Given the description of an element on the screen output the (x, y) to click on. 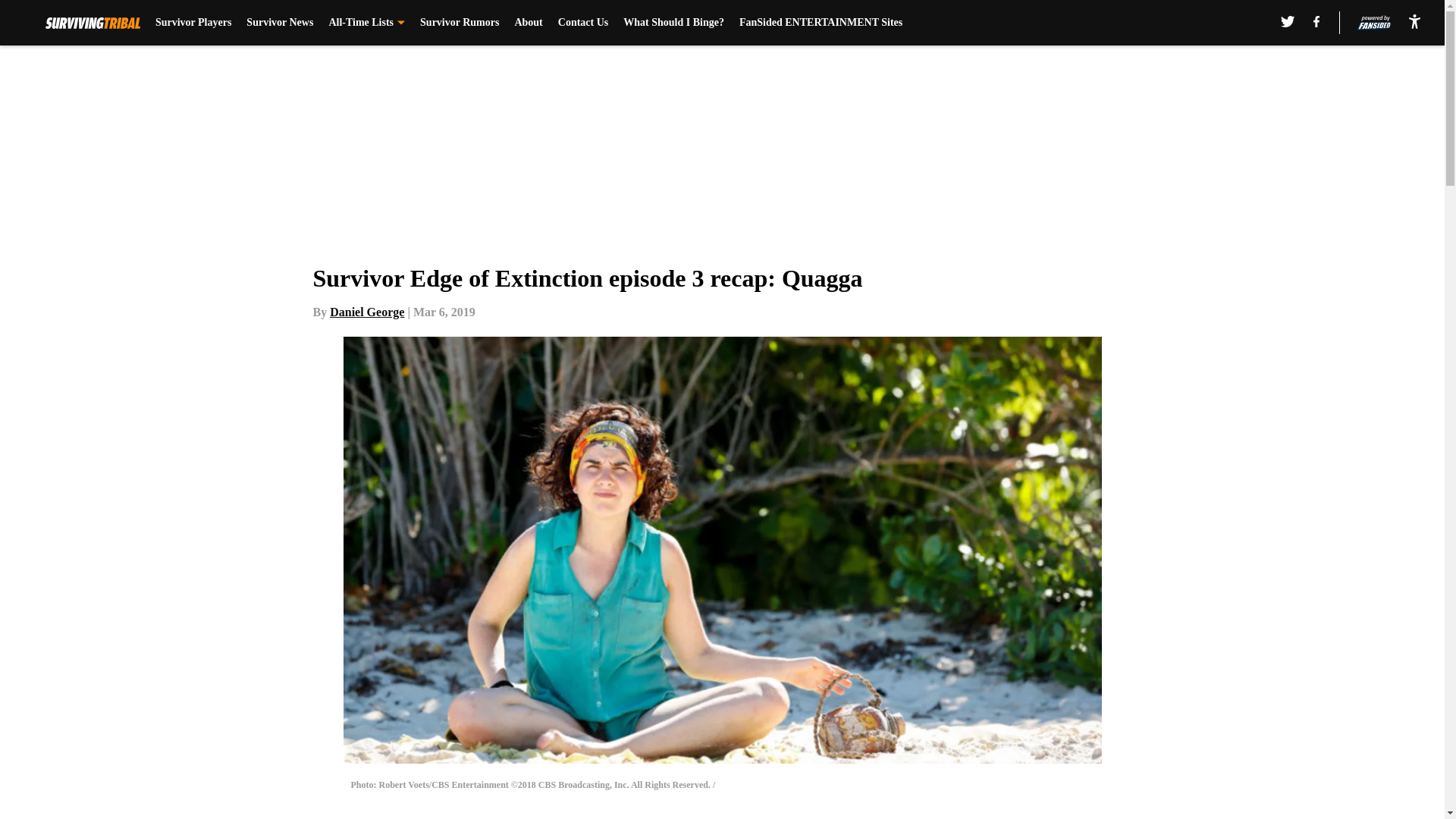
Survivor News (279, 22)
Survivor Rumors (459, 22)
About (527, 22)
Contact Us (582, 22)
Daniel George (367, 311)
What Should I Binge? (673, 22)
Survivor Players (193, 22)
FanSided ENTERTAINMENT Sites (820, 22)
